Given the description of an element on the screen output the (x, y) to click on. 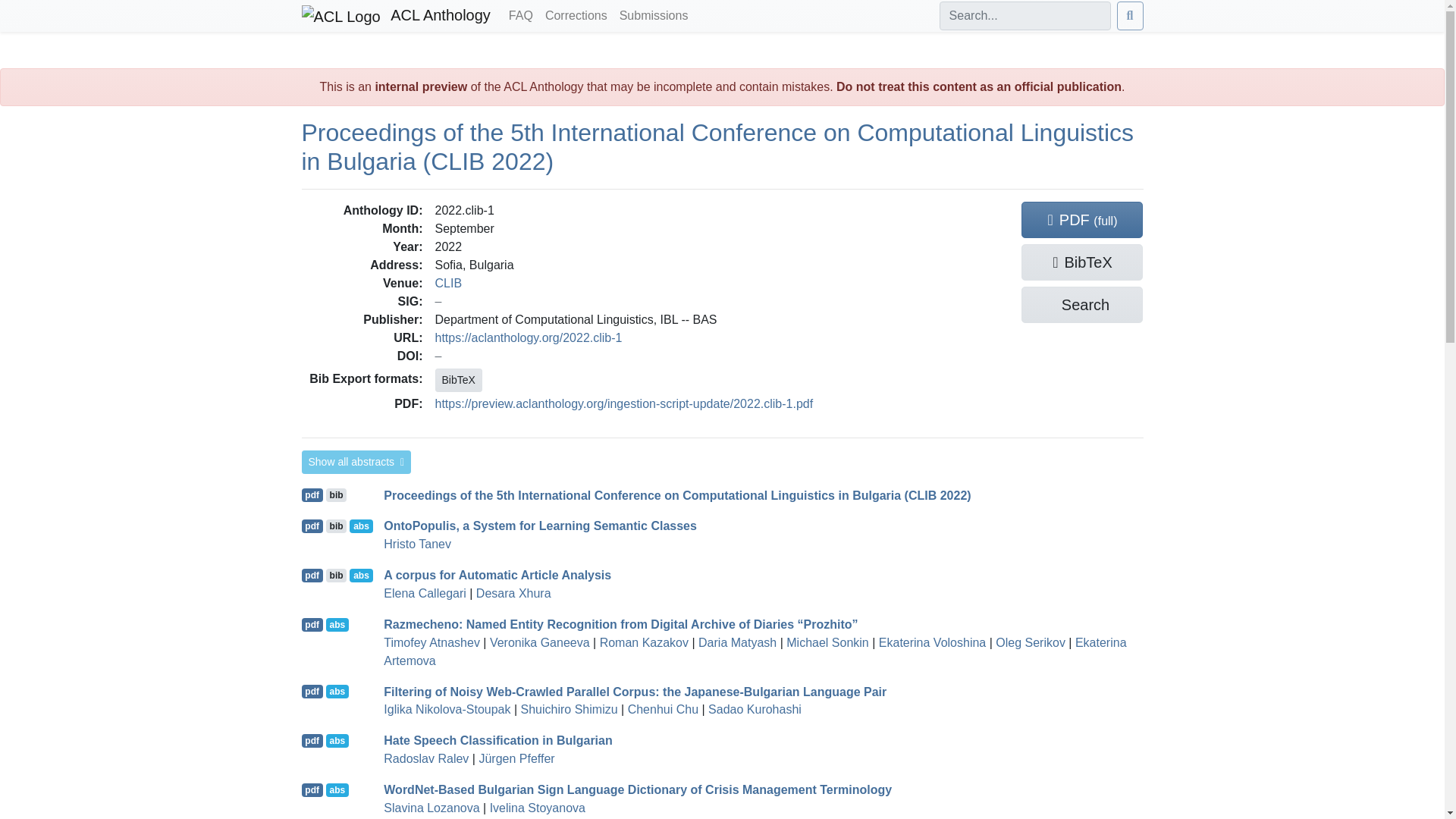
Ekaterina Voloshina (932, 642)
Show Abstract (337, 691)
Hristo Tanev (417, 543)
Open PDF (312, 789)
Open PDF (312, 624)
pdf (312, 575)
Open PDF (312, 575)
OntoPopulis, a System for Learning Semantic Classes (540, 525)
Show Abstract (337, 624)
CLIB (449, 282)
Roman Kazakov (643, 642)
Michael Sonkin (827, 642)
abs (360, 526)
abs (337, 624)
Open PDF (312, 740)
